Given the description of an element on the screen output the (x, y) to click on. 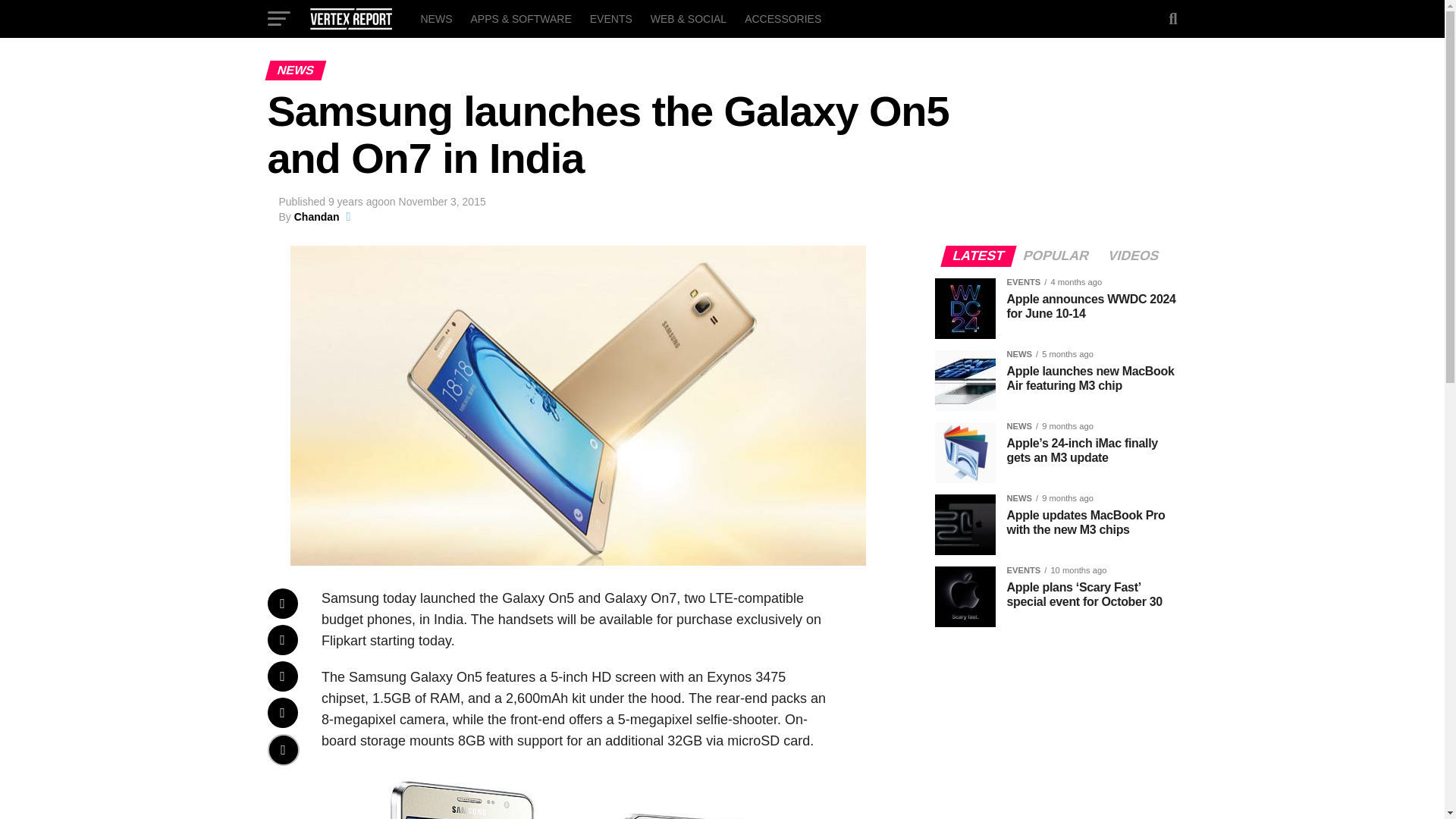
NEWS (435, 18)
News (435, 18)
ACCESSORIES (782, 18)
Posts by Chandan (316, 216)
EVENTS (611, 18)
Events (611, 18)
